Given the description of an element on the screen output the (x, y) to click on. 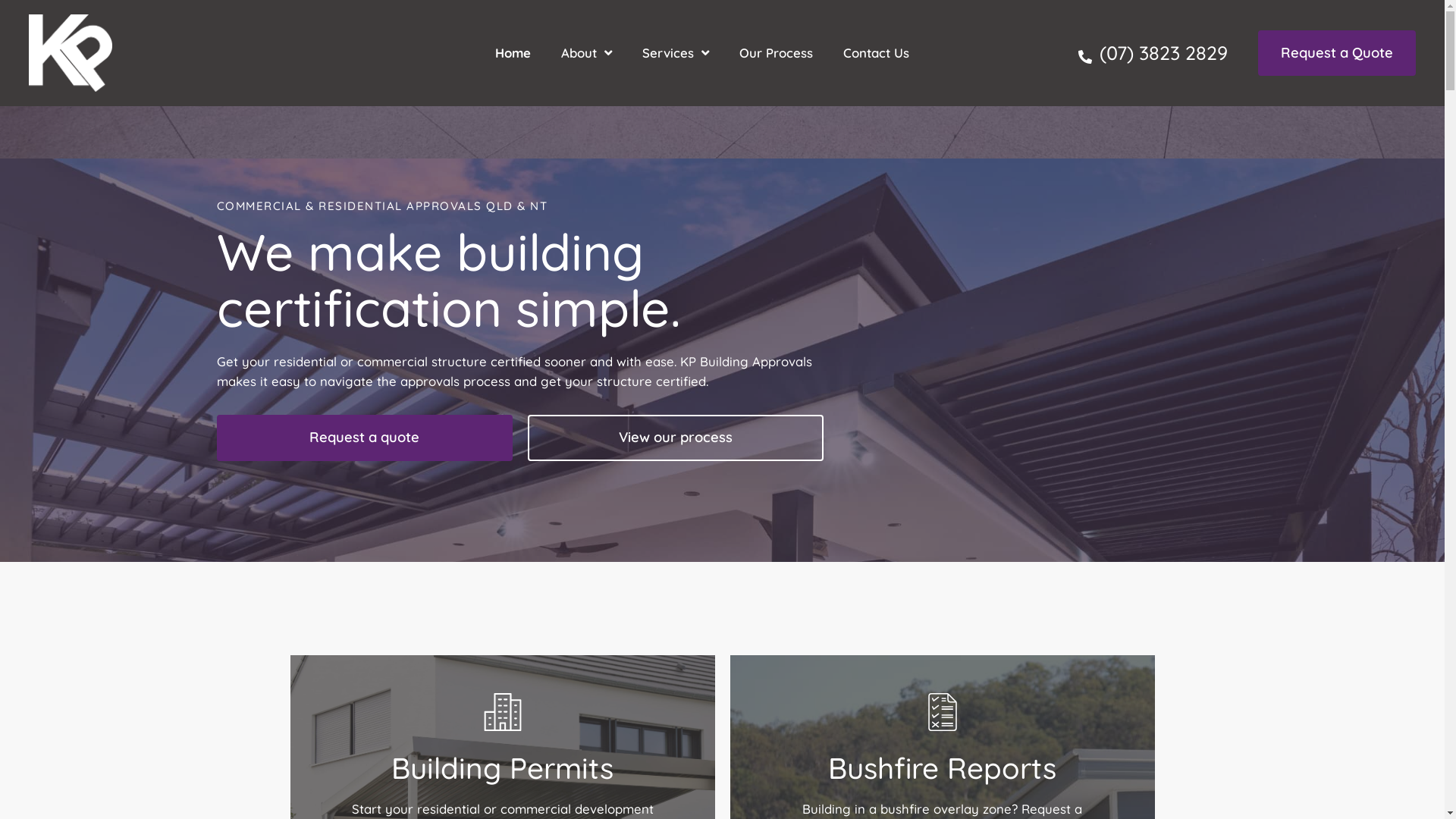
Services Element type: text (675, 52)
View our process Element type: text (675, 437)
Our Process Element type: text (776, 52)
About Element type: text (586, 52)
Request a Quote Element type: text (1336, 52)
Home Element type: text (513, 52)
Request a quote Element type: text (364, 437)
(07) 3823 2829 Element type: text (1152, 53)
Contact Us Element type: text (876, 52)
